Given the description of an element on the screen output the (x, y) to click on. 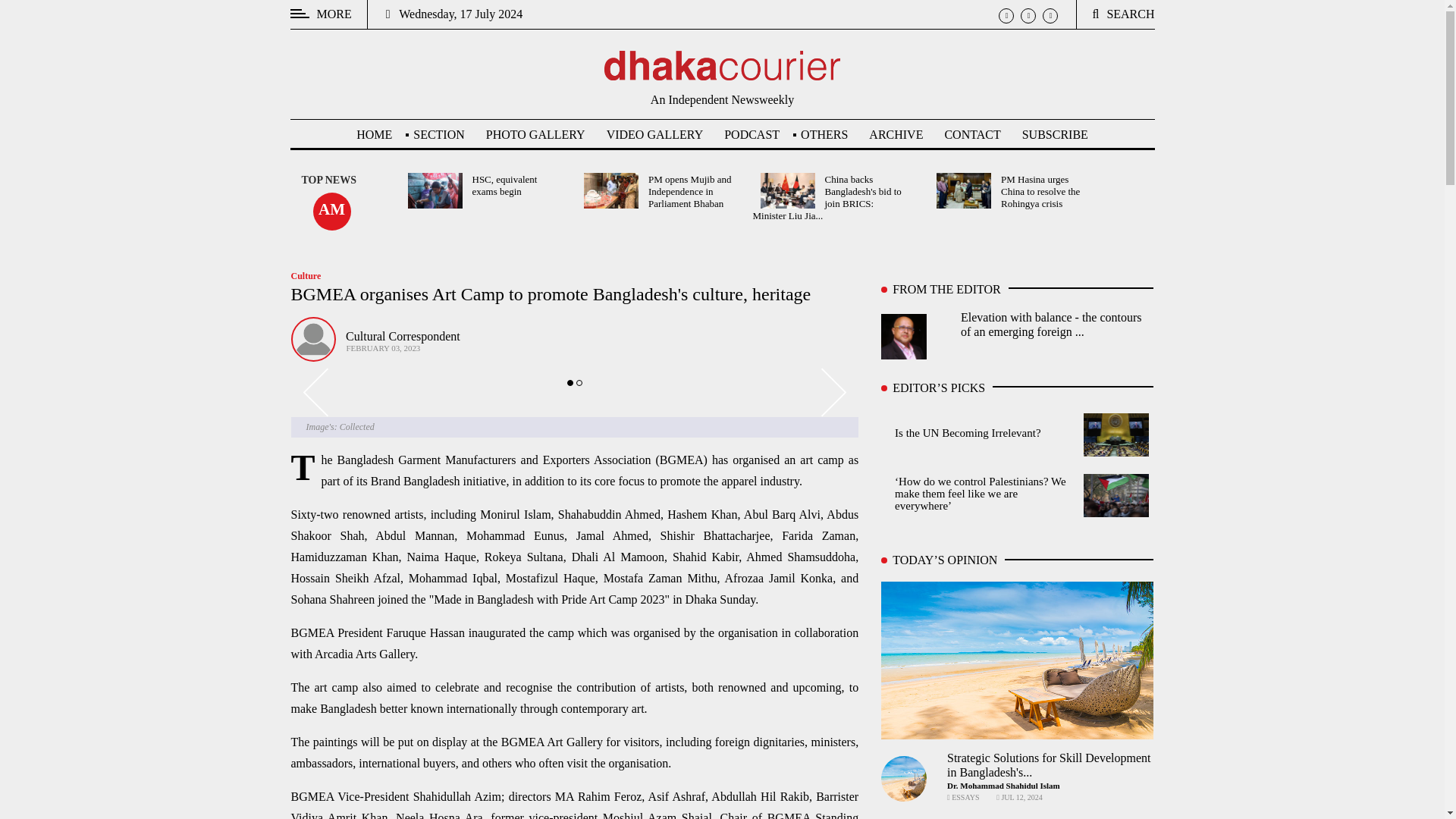
Home (373, 133)
